Given the description of an element on the screen output the (x, y) to click on. 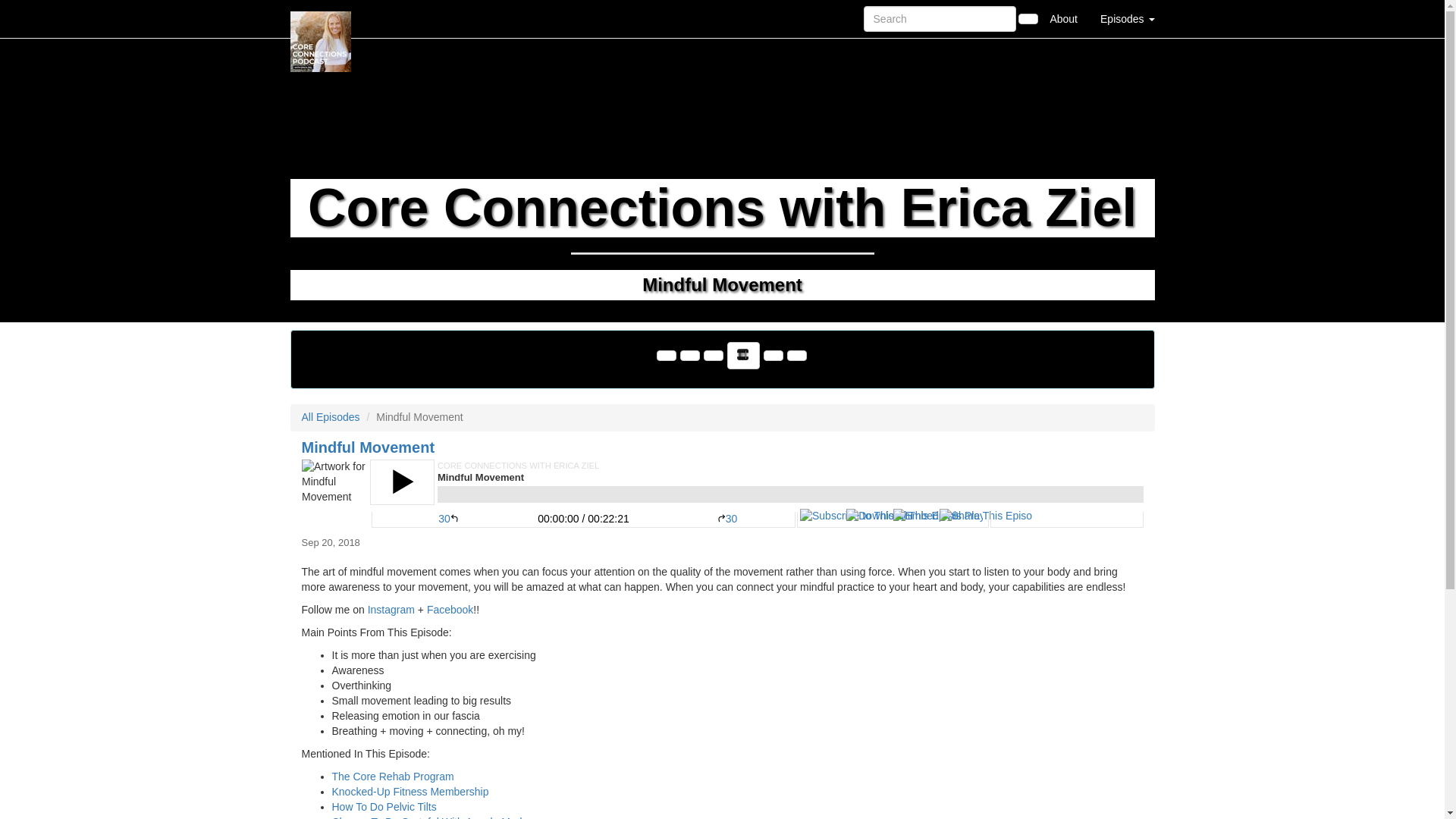
Episodes (1127, 18)
About (1063, 18)
Home Page (320, 18)
Mindful Movement (721, 493)
